Given the description of an element on the screen output the (x, y) to click on. 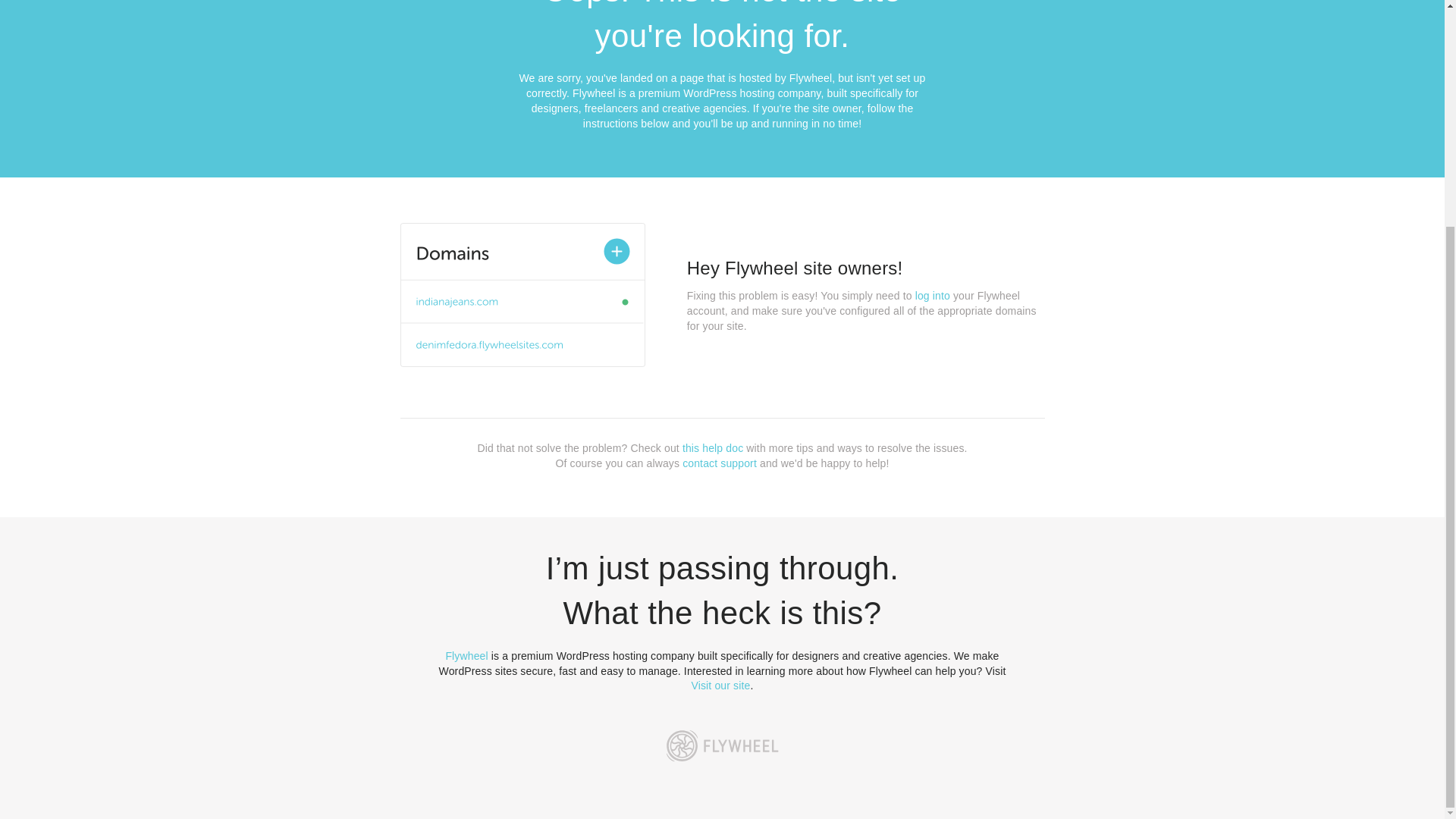
Flywheel (466, 655)
log into (932, 295)
contact support (719, 463)
Visit our site (721, 685)
this help doc (712, 448)
